Given the description of an element on the screen output the (x, y) to click on. 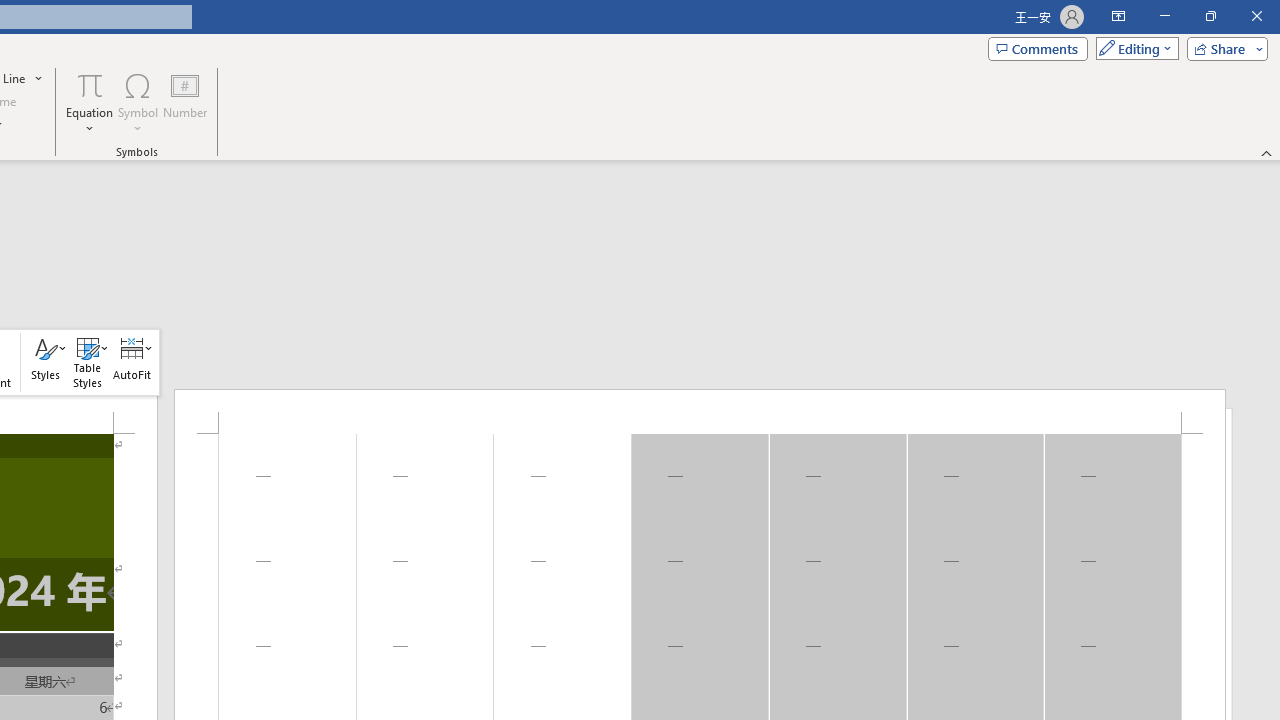
Table Styles (87, 361)
AutoFit (132, 361)
